Given the description of an element on the screen output the (x, y) to click on. 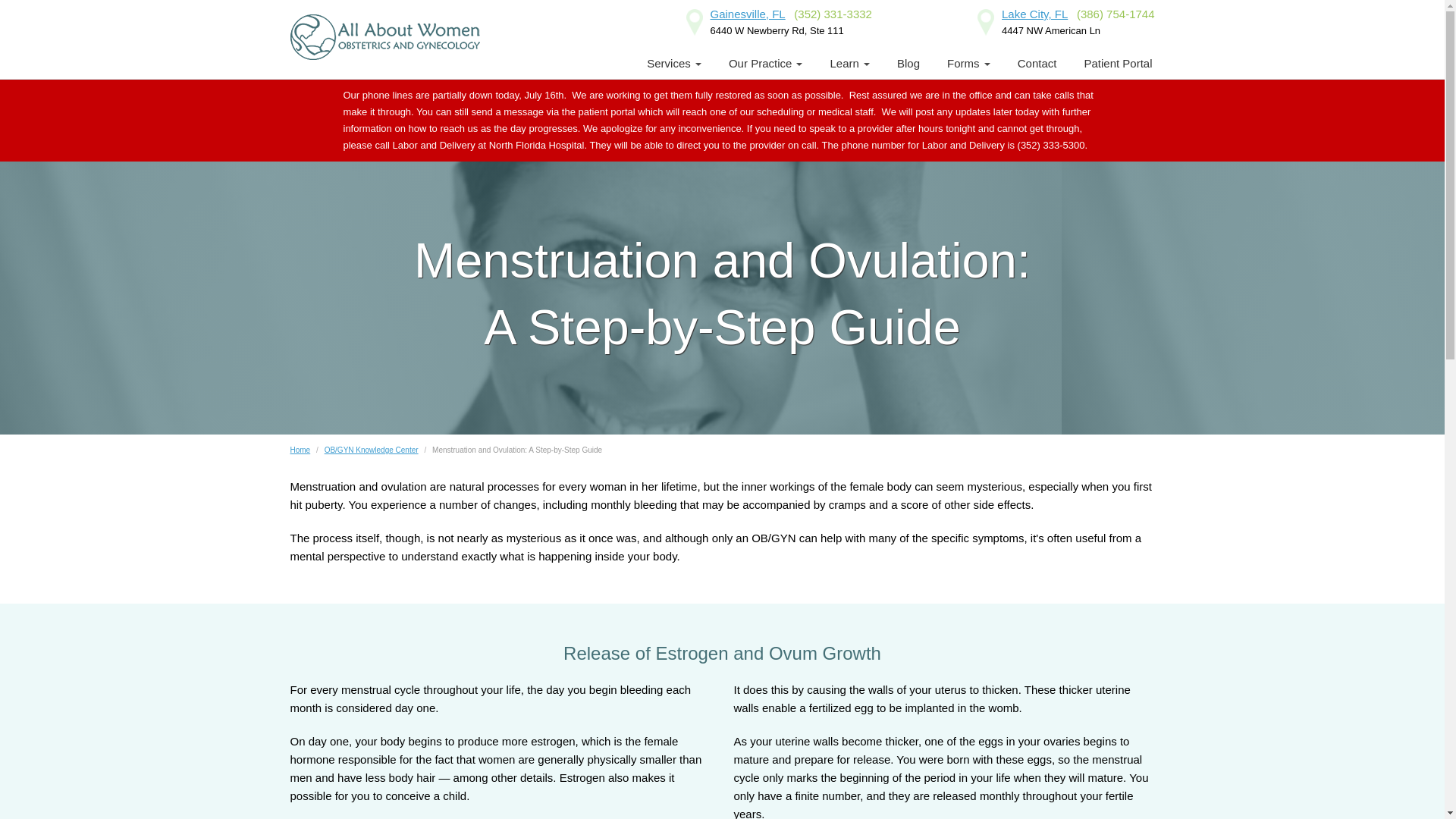
Our Practice (765, 63)
Learn (849, 63)
Services (673, 63)
Forms (968, 63)
Gainesville, FL (747, 13)
Patient Portal (1118, 63)
Contact (1037, 63)
Home (299, 449)
Lake City, FL (1034, 13)
Blog (908, 63)
